Given the description of an element on the screen output the (x, y) to click on. 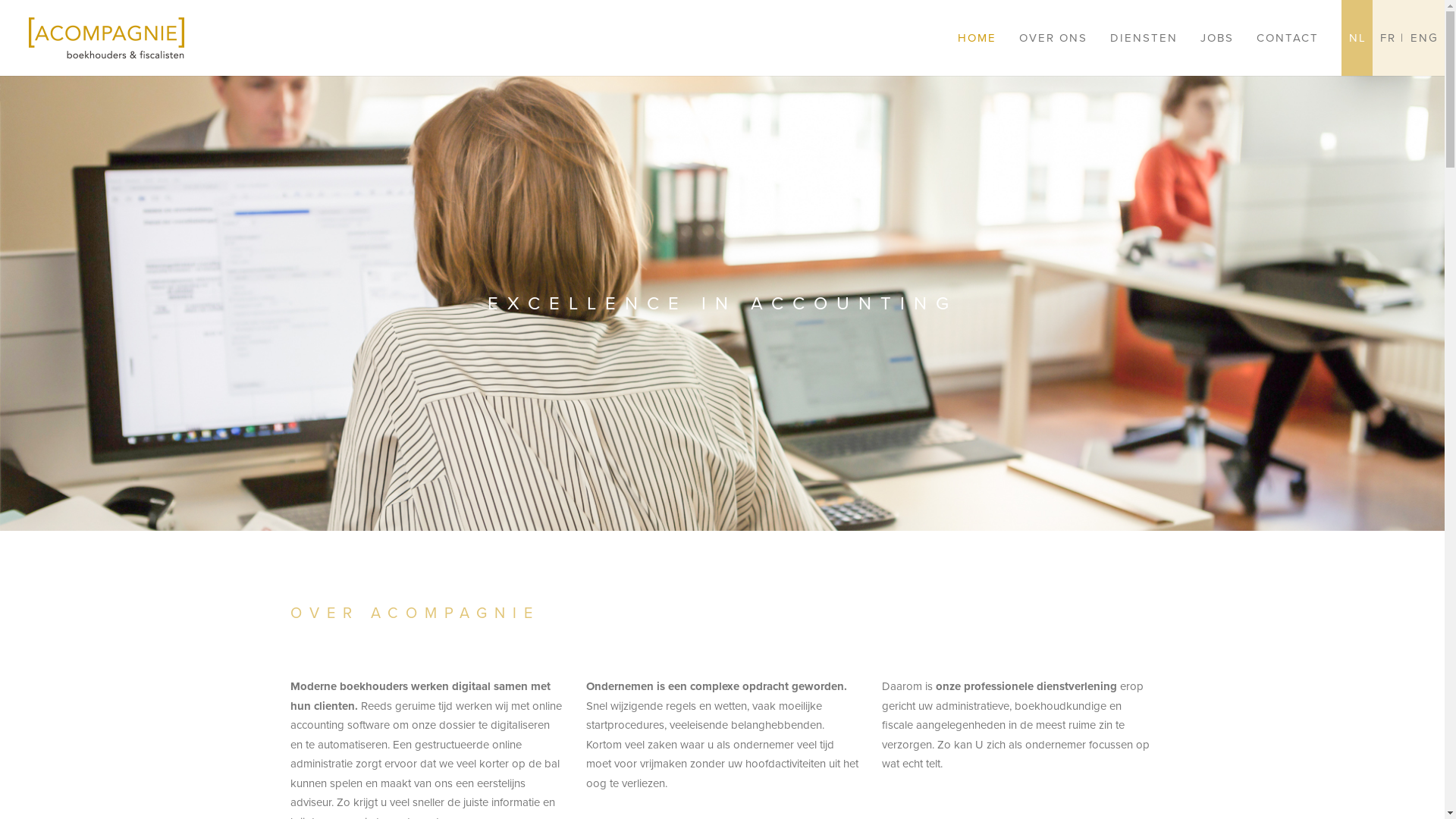
JOBS Element type: text (1216, 37)
ENG Element type: text (1427, 37)
OVER ONS Element type: text (1053, 37)
DIENSTEN Element type: text (1143, 37)
HOME Element type: text (976, 37)
CONTACT Element type: text (1287, 37)
NL Element type: text (1356, 37)
FR | Element type: text (1391, 37)
